Given the description of an element on the screen output the (x, y) to click on. 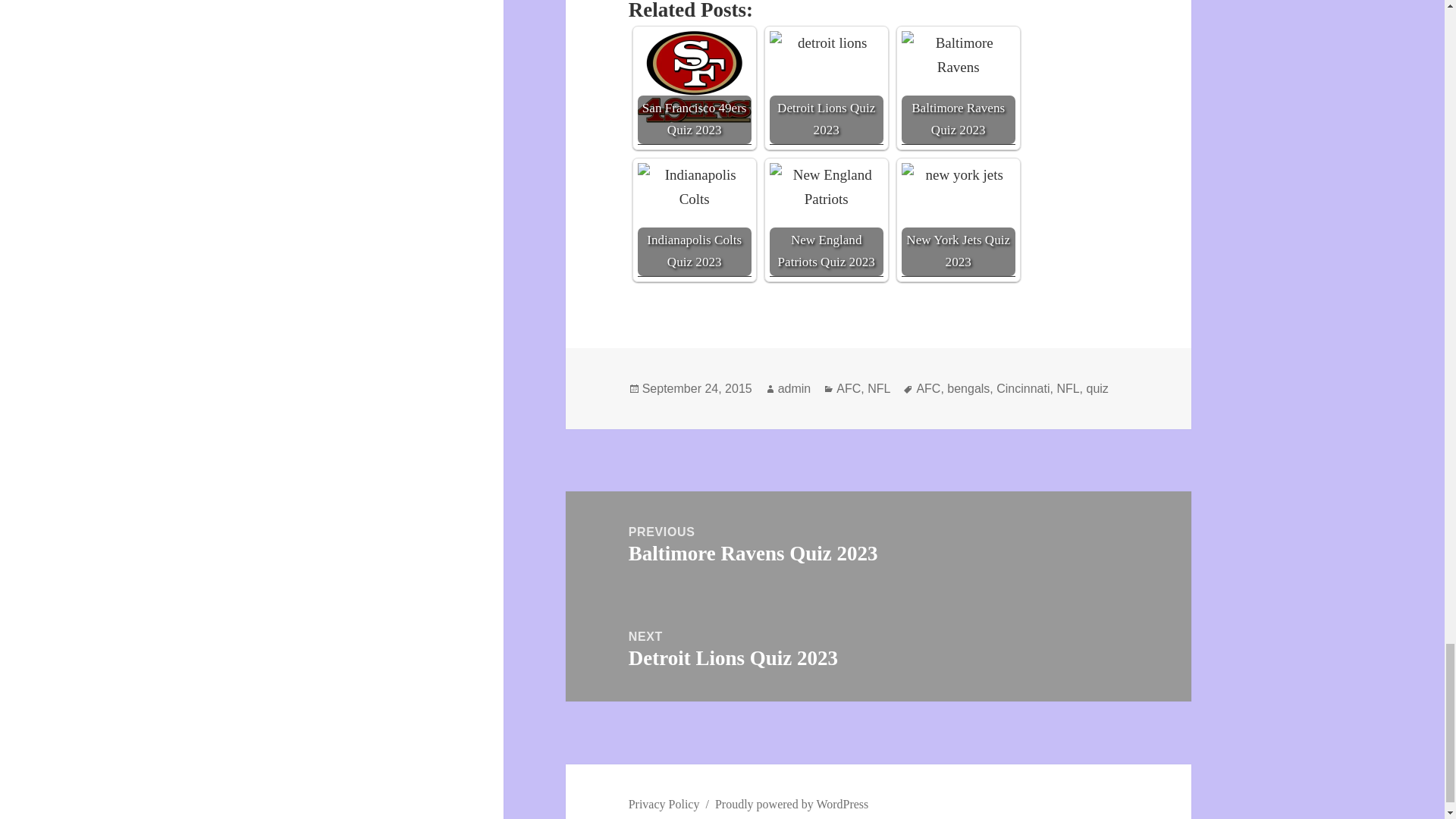
New England Patriots Quiz 2023 (826, 219)
Baltimore Ravens Quiz 2023 (957, 87)
Indianapolis Colts Quiz 2023 (694, 219)
Detroit Lions Quiz 2023 (826, 87)
New York Jets Quiz 2023 (957, 219)
San Francisco 49ers Quiz 2023 (694, 76)
